Given the description of an element on the screen output the (x, y) to click on. 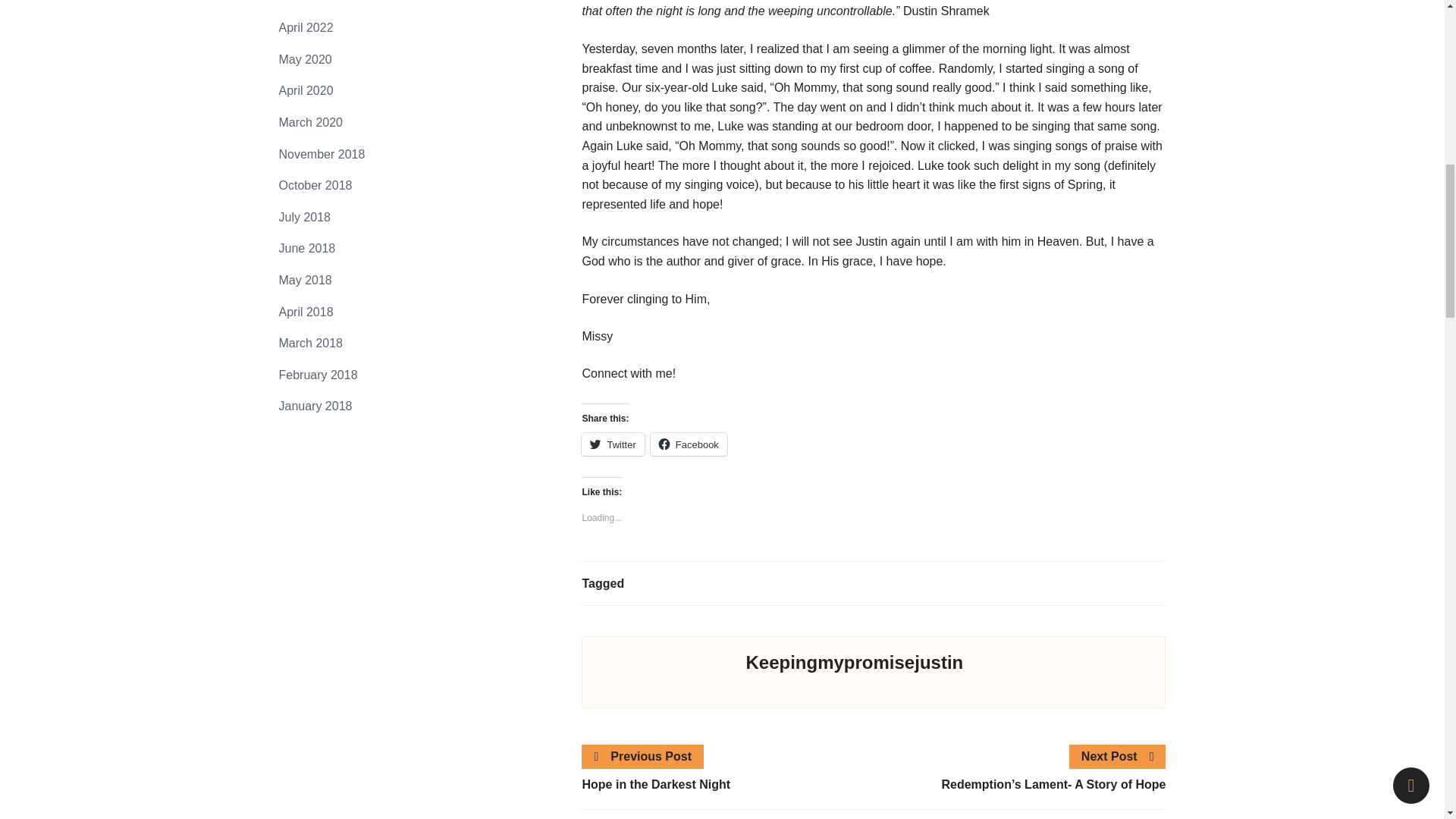
Click to share on Facebook (688, 444)
Click to share on Twitter (611, 444)
Previous Post (642, 756)
Tweet (641, 395)
Facebook (688, 444)
Next Post (1117, 756)
Pin Share (663, 395)
Praise (645, 583)
Twitter (611, 444)
Hope in the Darkest Night (726, 784)
Facebook Share (620, 395)
